Given the description of an element on the screen output the (x, y) to click on. 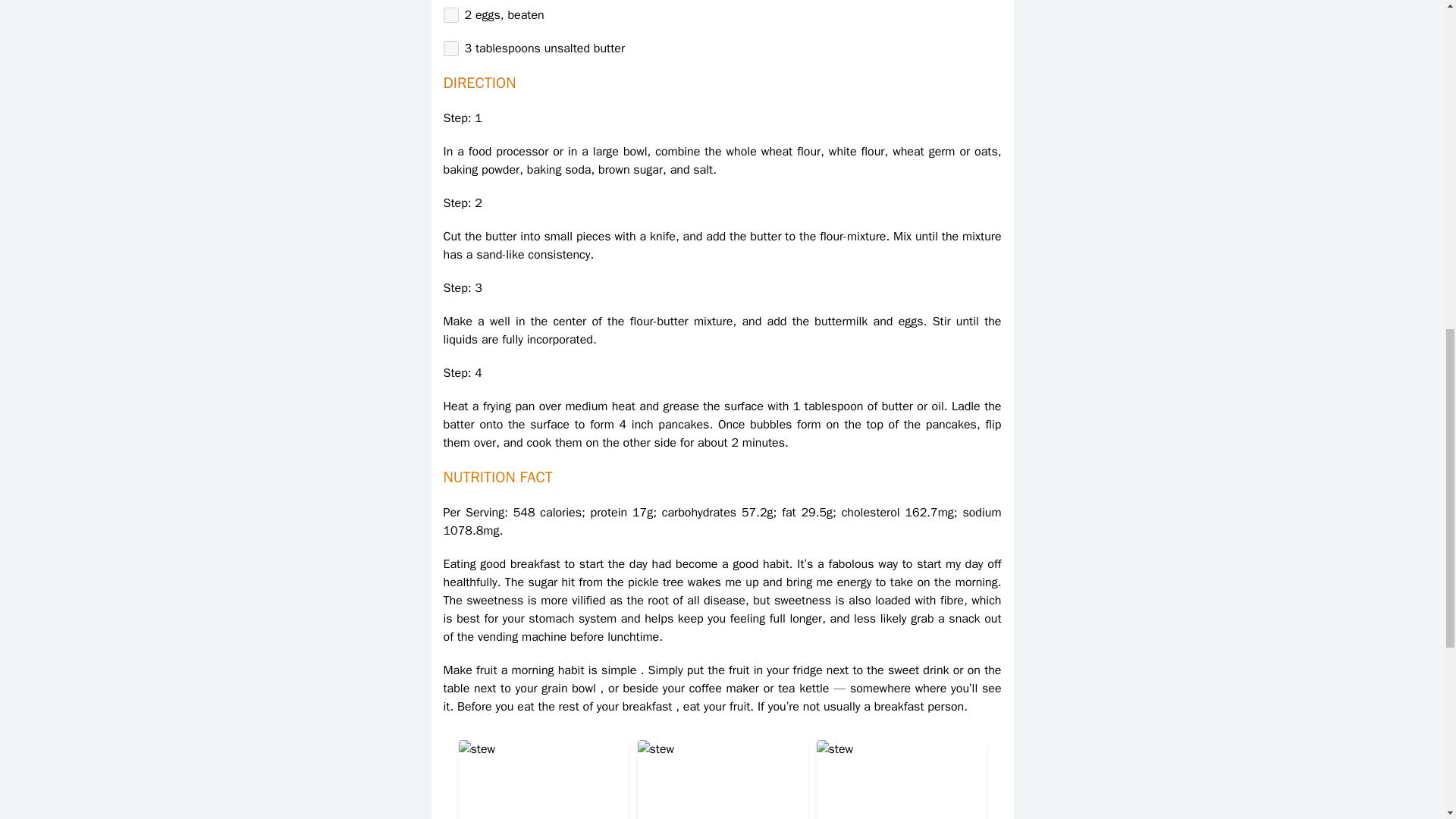
on (450, 14)
on (450, 48)
